Given the description of an element on the screen output the (x, y) to click on. 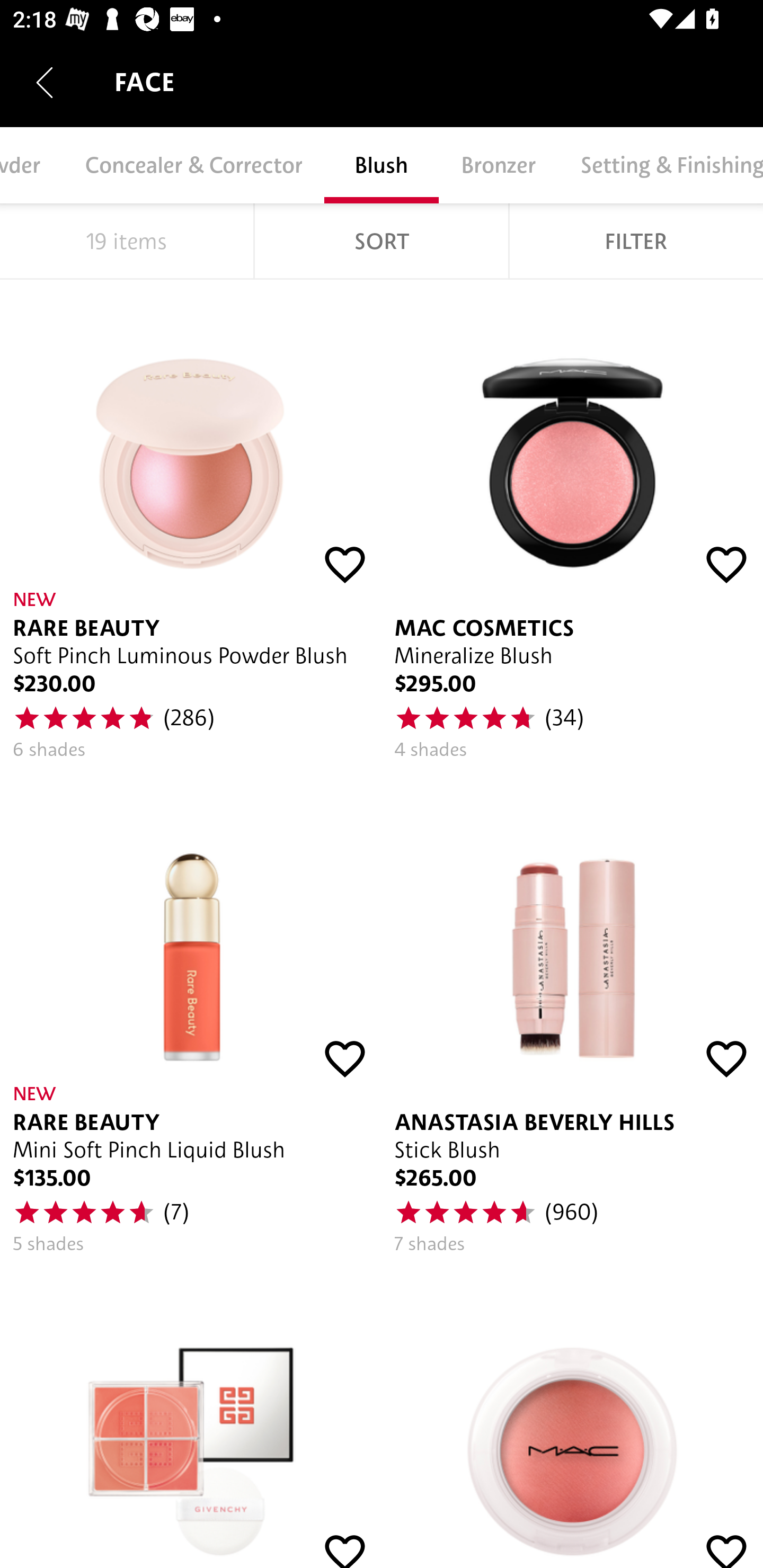
Navigate up (44, 82)
Concealer & Corrector (193, 165)
Bronzer (497, 165)
Setting & Finishing Spray (660, 165)
SORT (381, 241)
FILTER (636, 241)
